Given the description of an element on the screen output the (x, y) to click on. 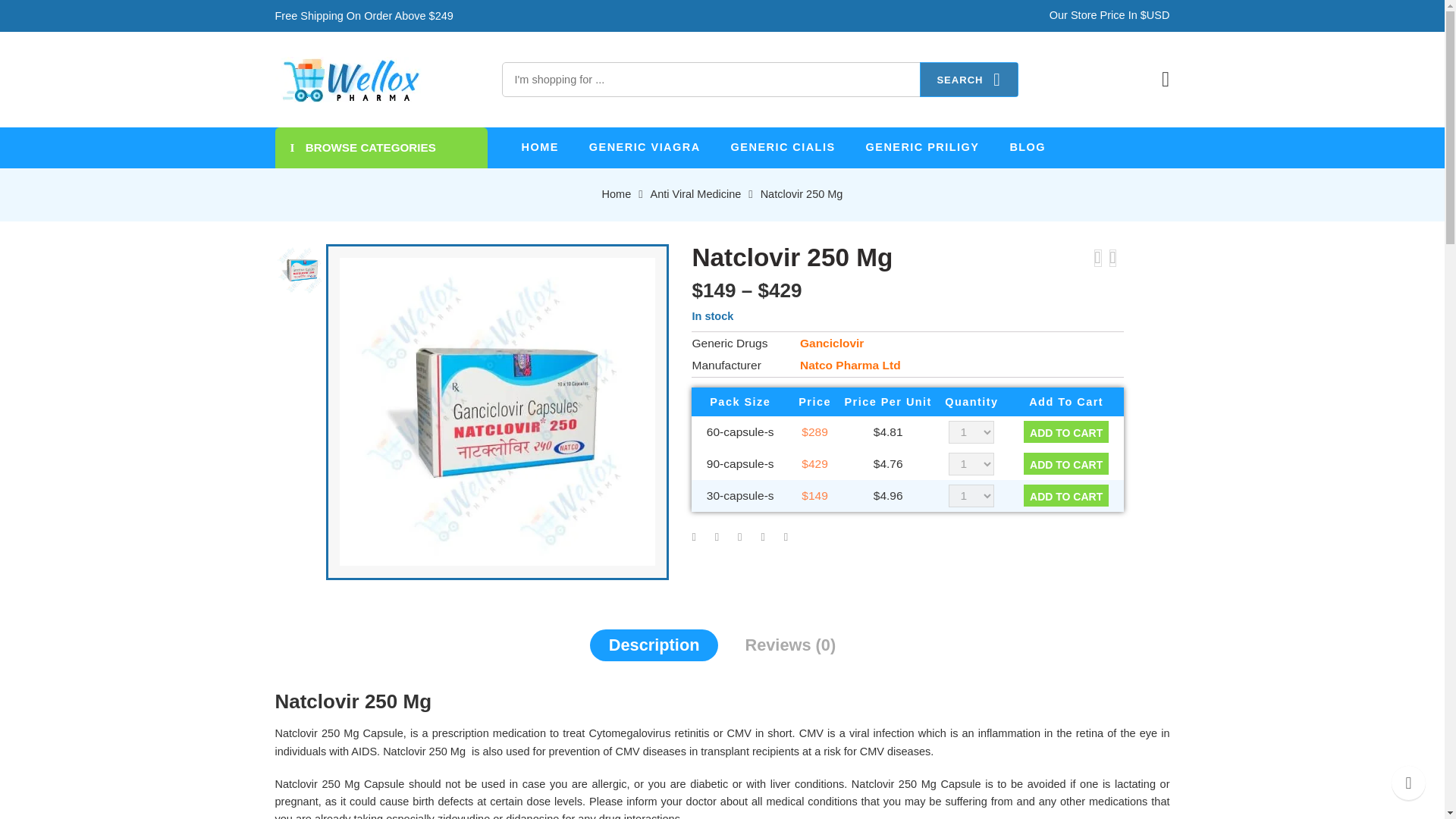
GENERIC CIALIS (782, 147)
Add To Cart (1065, 495)
Anti Viral Medicine (695, 193)
BLOG (1027, 147)
GENERIC VIAGRA (644, 147)
HOME (540, 147)
SEARCH (968, 79)
WelloxPharma - Buy Generic Drugs Online With Cheap Price (350, 79)
Home (616, 193)
Add To Cart (1065, 463)
